Given the description of an element on the screen output the (x, y) to click on. 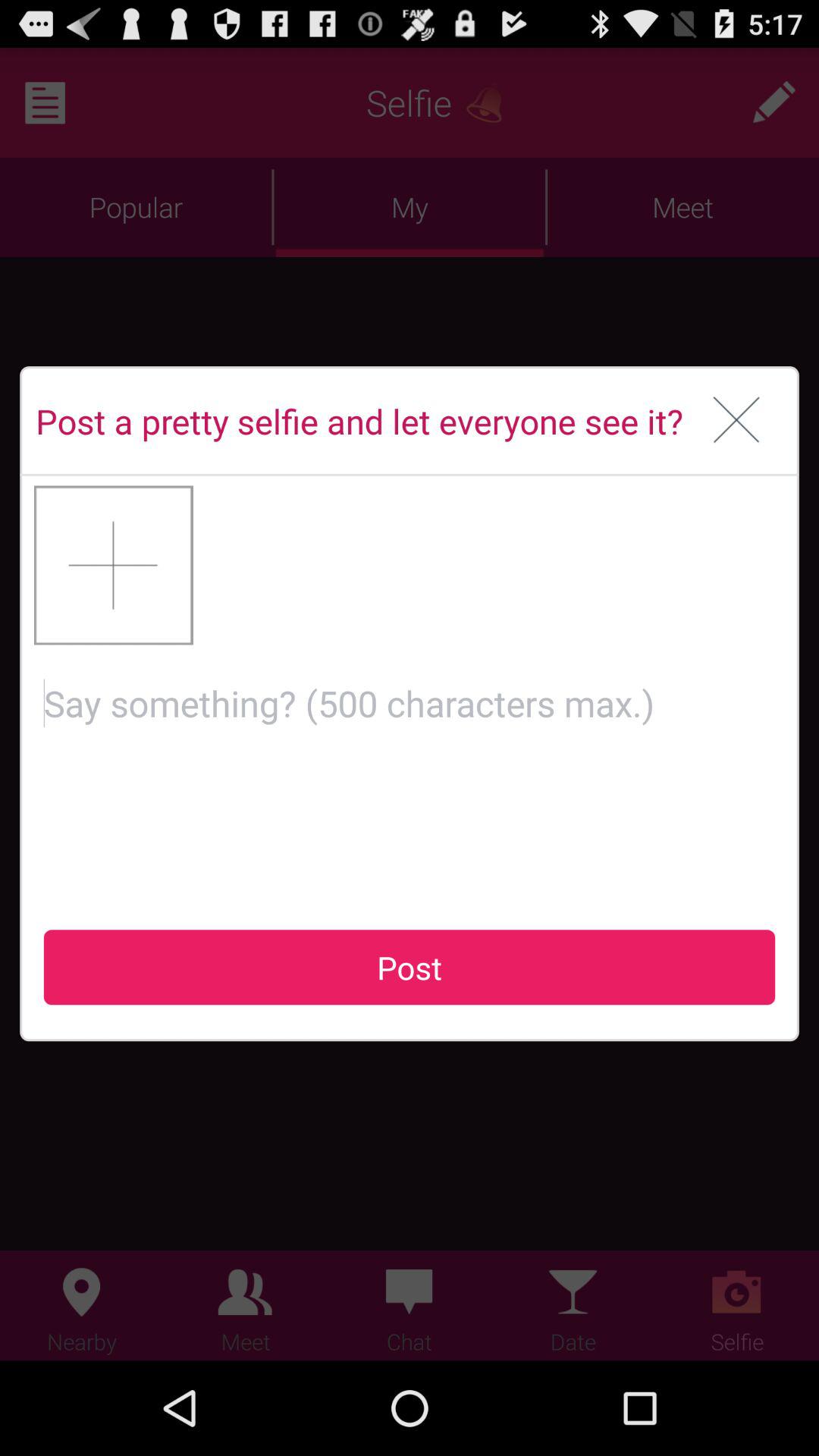
close window (736, 421)
